Given the description of an element on the screen output the (x, y) to click on. 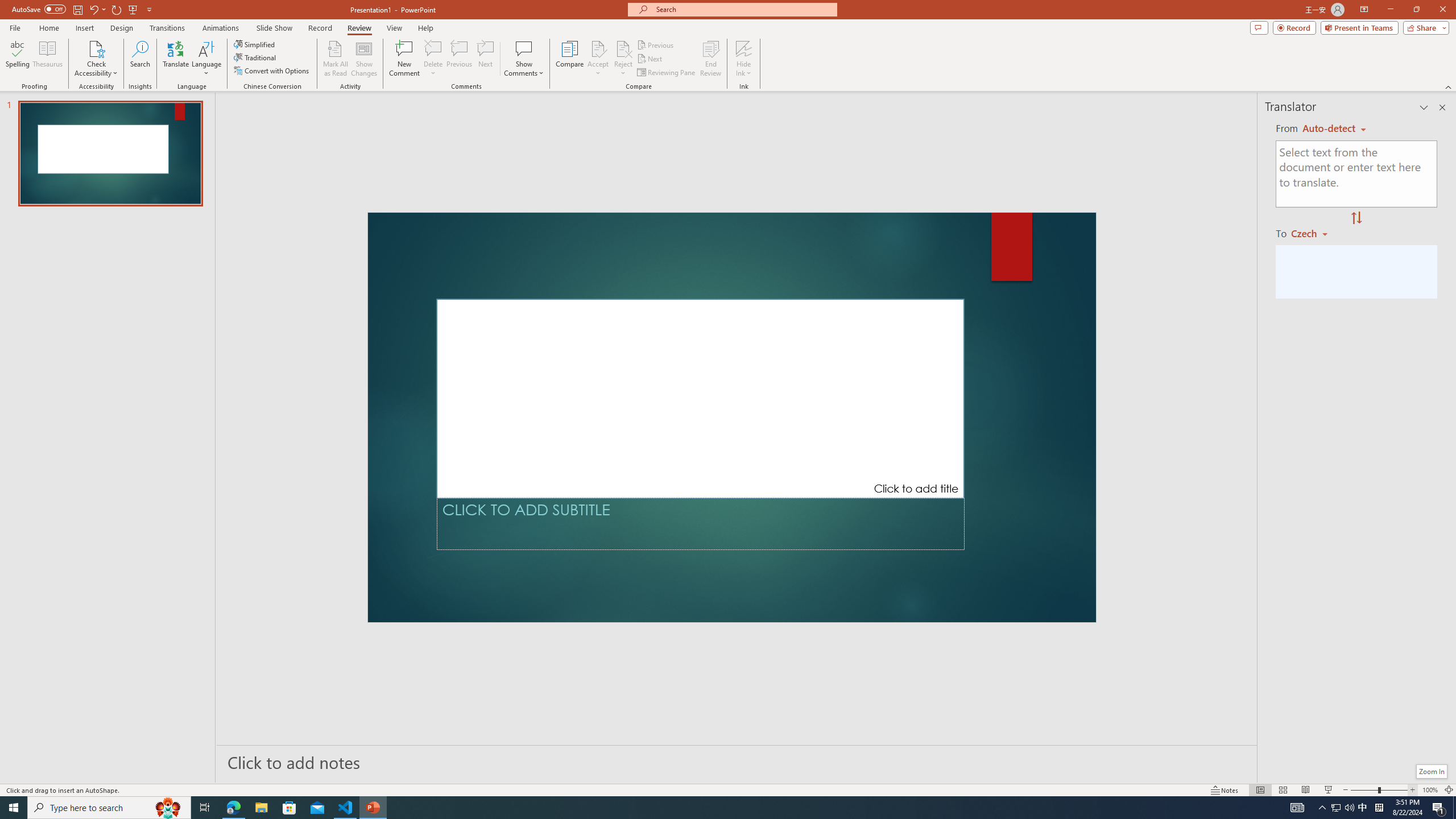
Show Comments (524, 48)
New Comment (403, 58)
Reject Change (622, 48)
From Beginning (133, 9)
Thesaurus... (47, 58)
Review (359, 28)
System (6, 6)
Redo (117, 9)
Hide Ink (743, 48)
Quick Access Toolbar (82, 9)
